Given the description of an element on the screen output the (x, y) to click on. 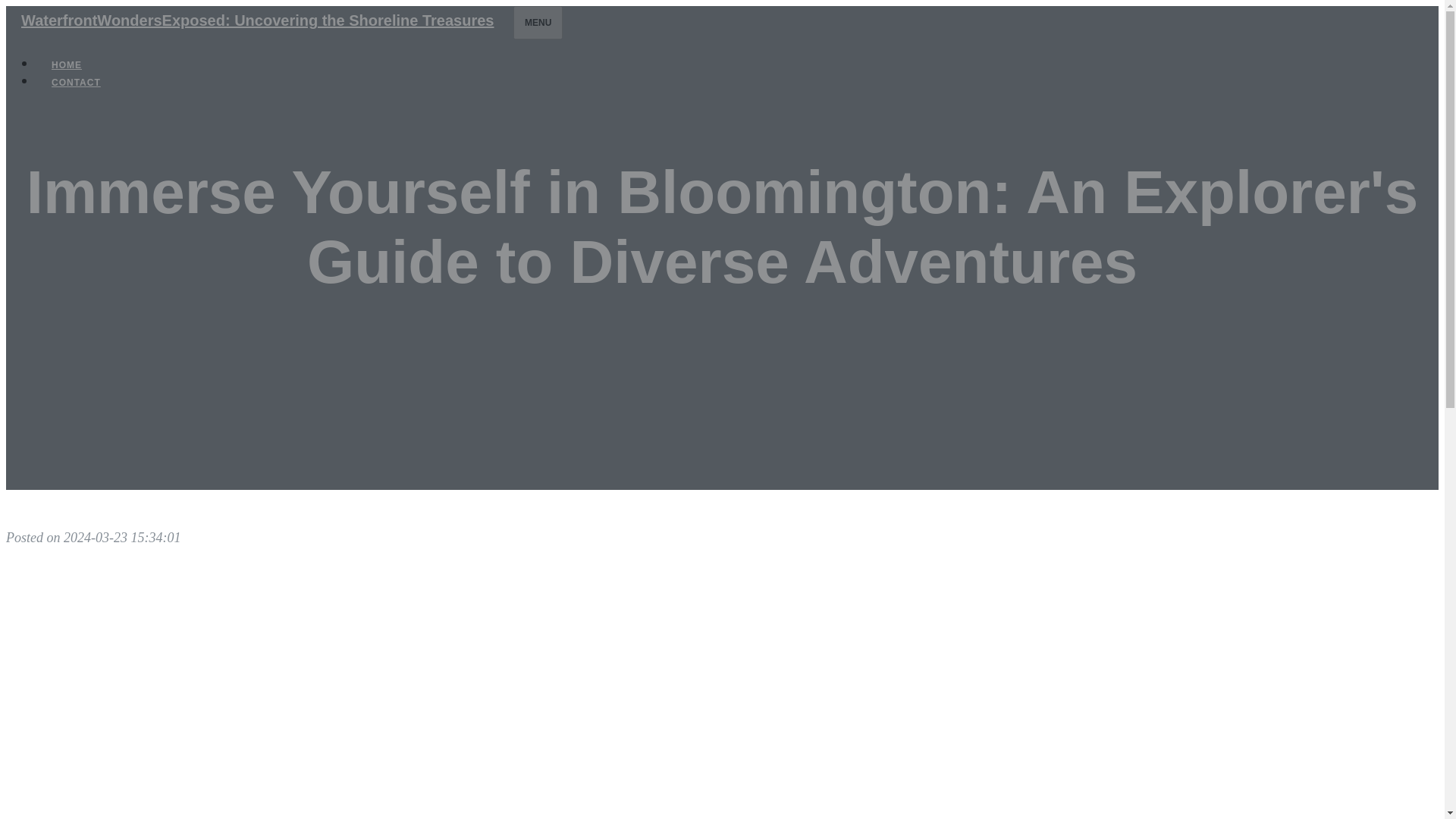
CONTACT (76, 82)
HOME (66, 64)
WaterfrontWondersExposed: Uncovering the Shoreline Treasures (256, 20)
MENU (537, 22)
